Given the description of an element on the screen output the (x, y) to click on. 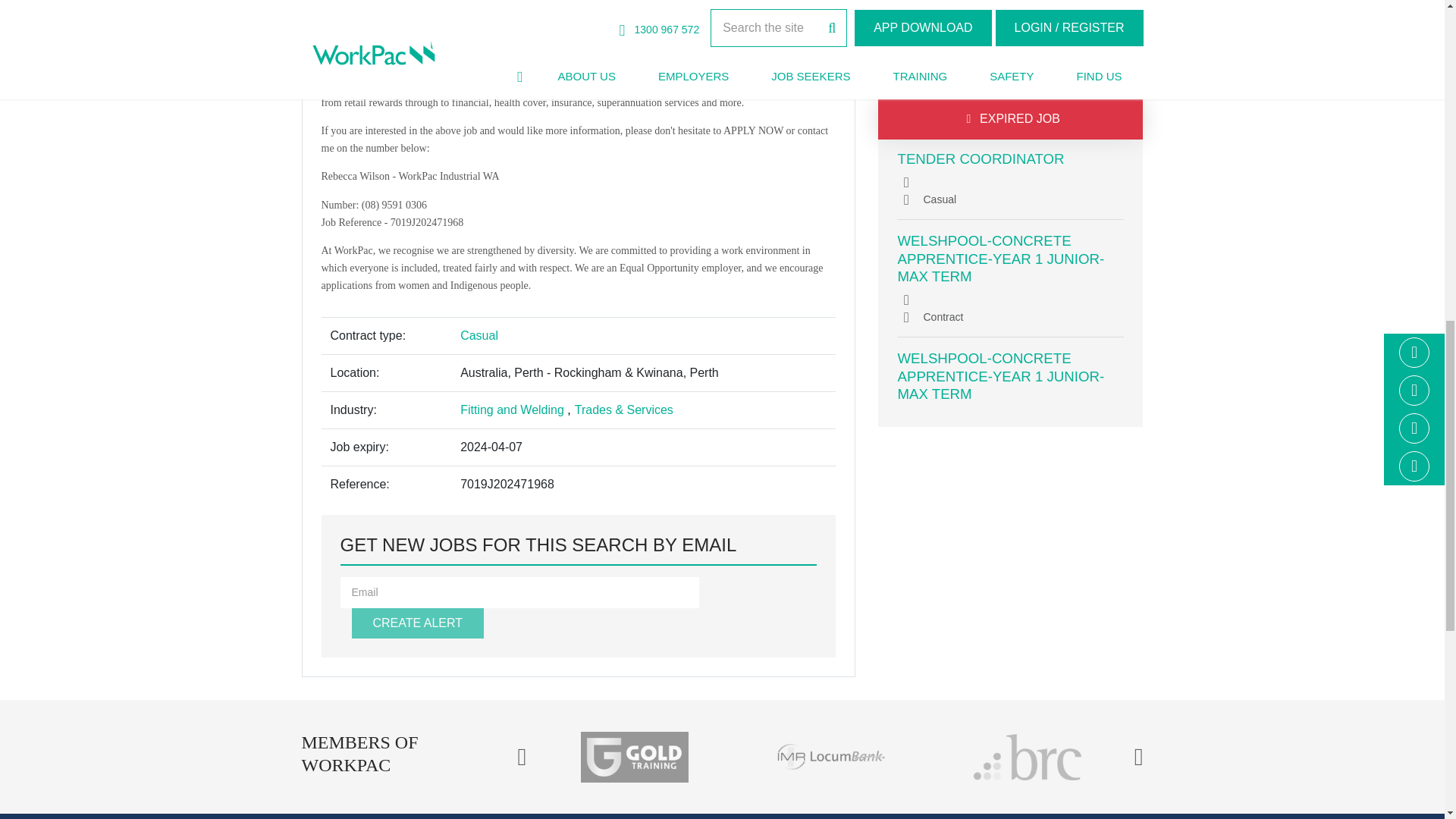
WELSHPOOL-Concrete Apprentice-Year 1 Junior-Max Term (1001, 376)
Tender Coordinator (981, 158)
WELSHPOOL-Concrete Apprentice-Year 1 Junior-Max Term (1001, 258)
Manufacturing Operator (1000, 75)
